Given the description of an element on the screen output the (x, y) to click on. 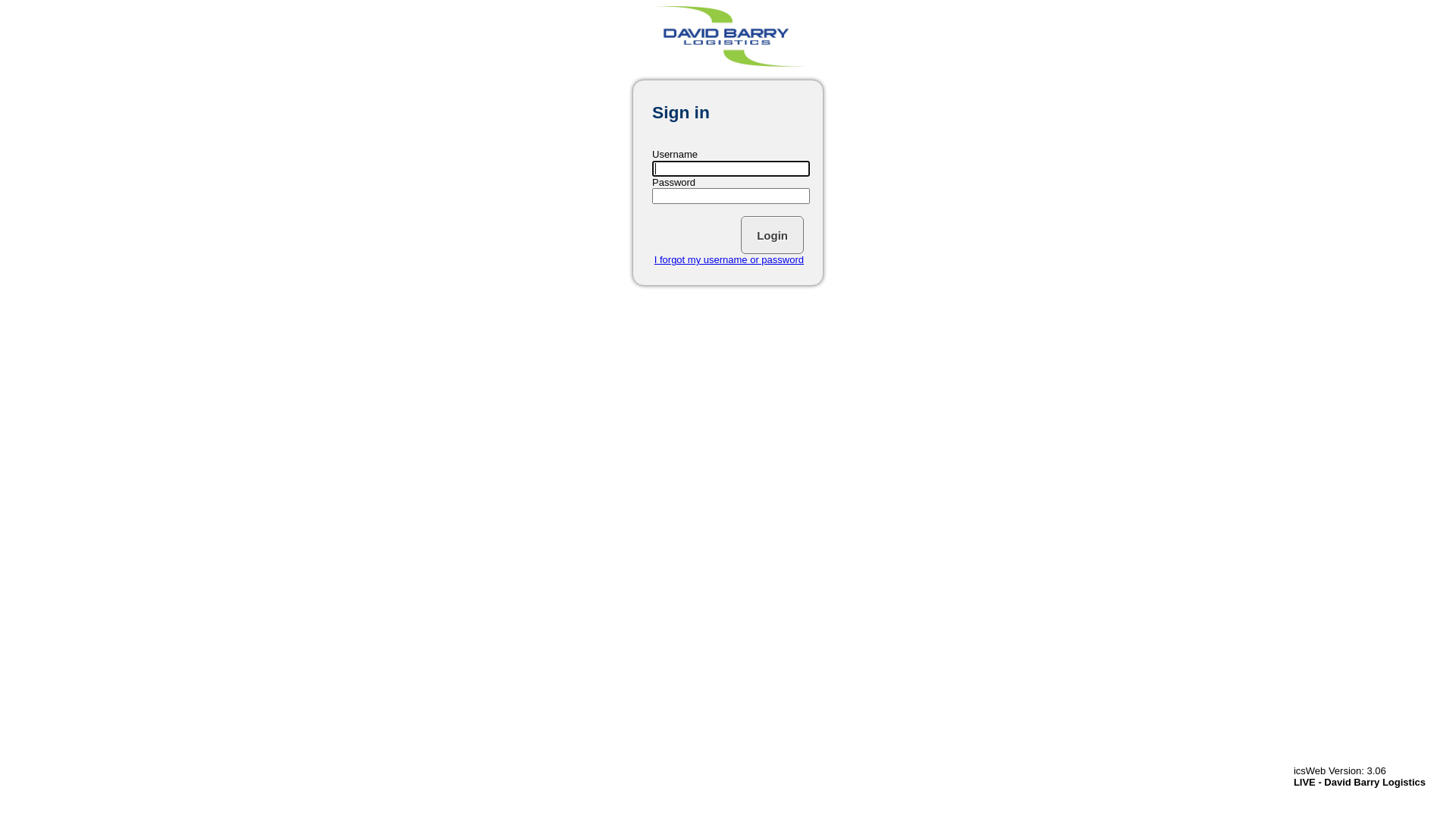
I forgot my username or password Element type: text (728, 259)
Login Element type: text (771, 235)
